Given the description of an element on the screen output the (x, y) to click on. 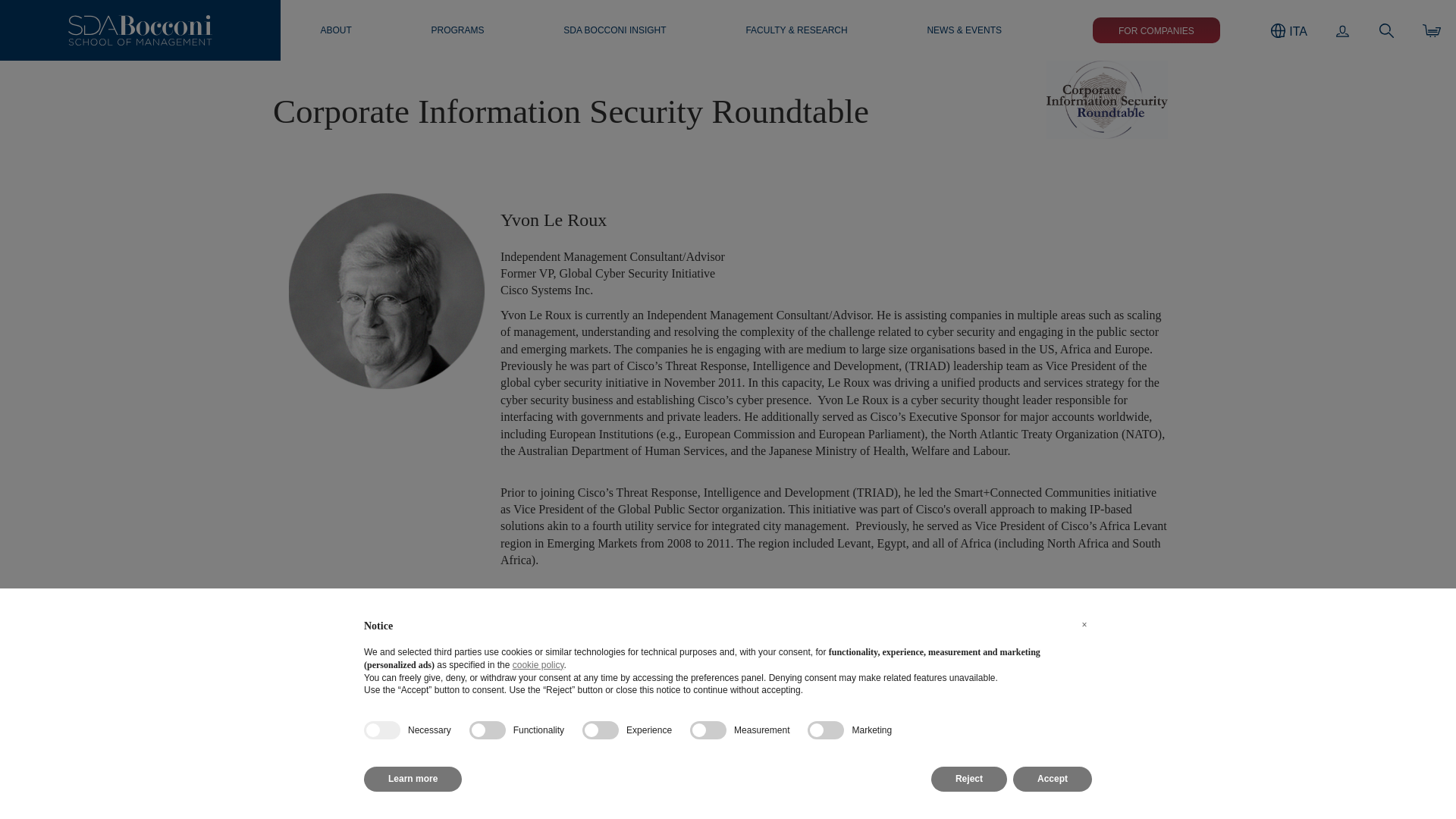
false (708, 730)
false (600, 730)
PROGRAMS (456, 30)
true (382, 730)
SDA BOCCONI INSIGHT (614, 30)
false (486, 730)
ABOUT (335, 30)
false (826, 730)
